Given the description of an element on the screen output the (x, y) to click on. 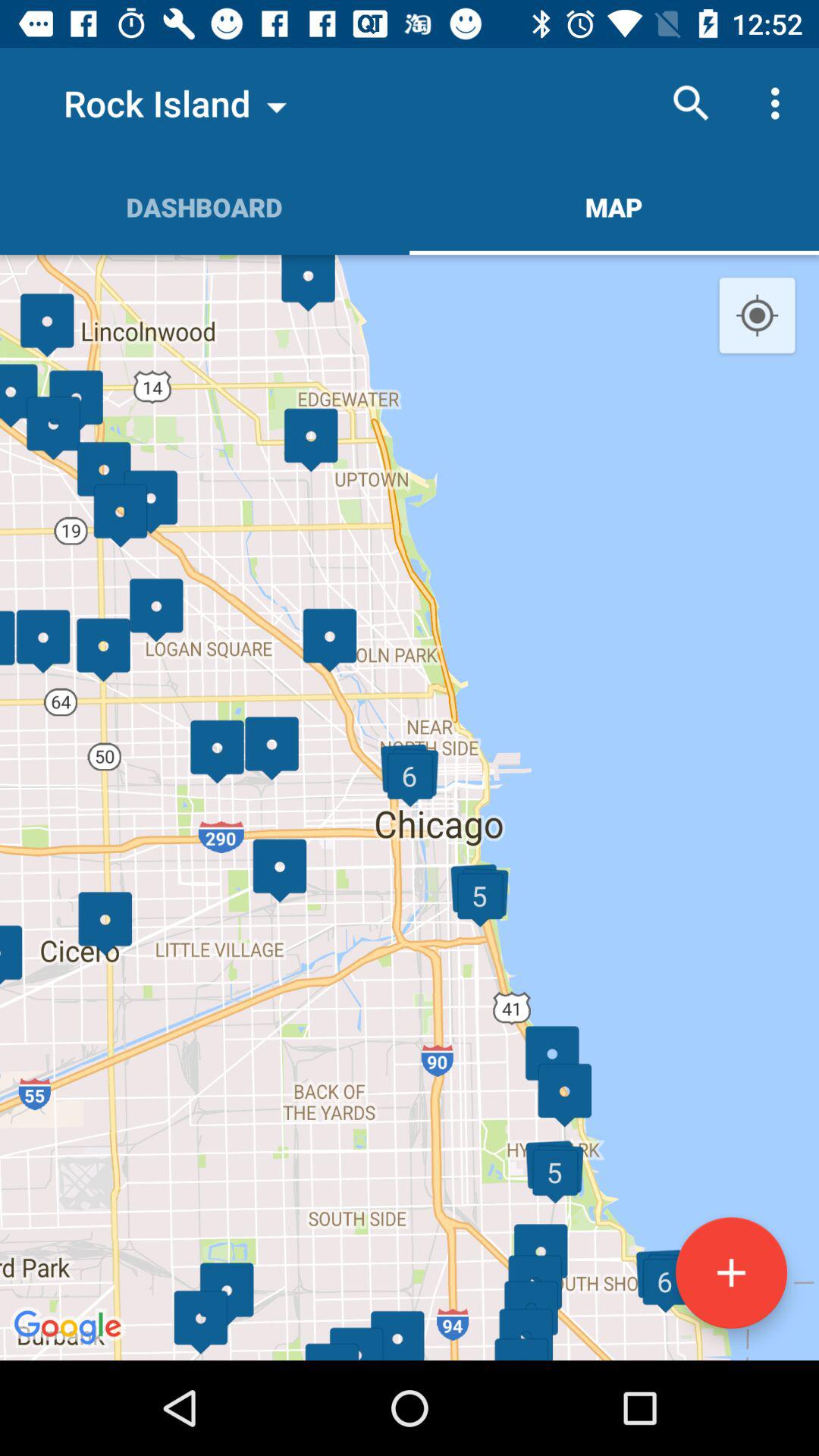
choose the item at the center (409, 807)
